Given the description of an element on the screen output the (x, y) to click on. 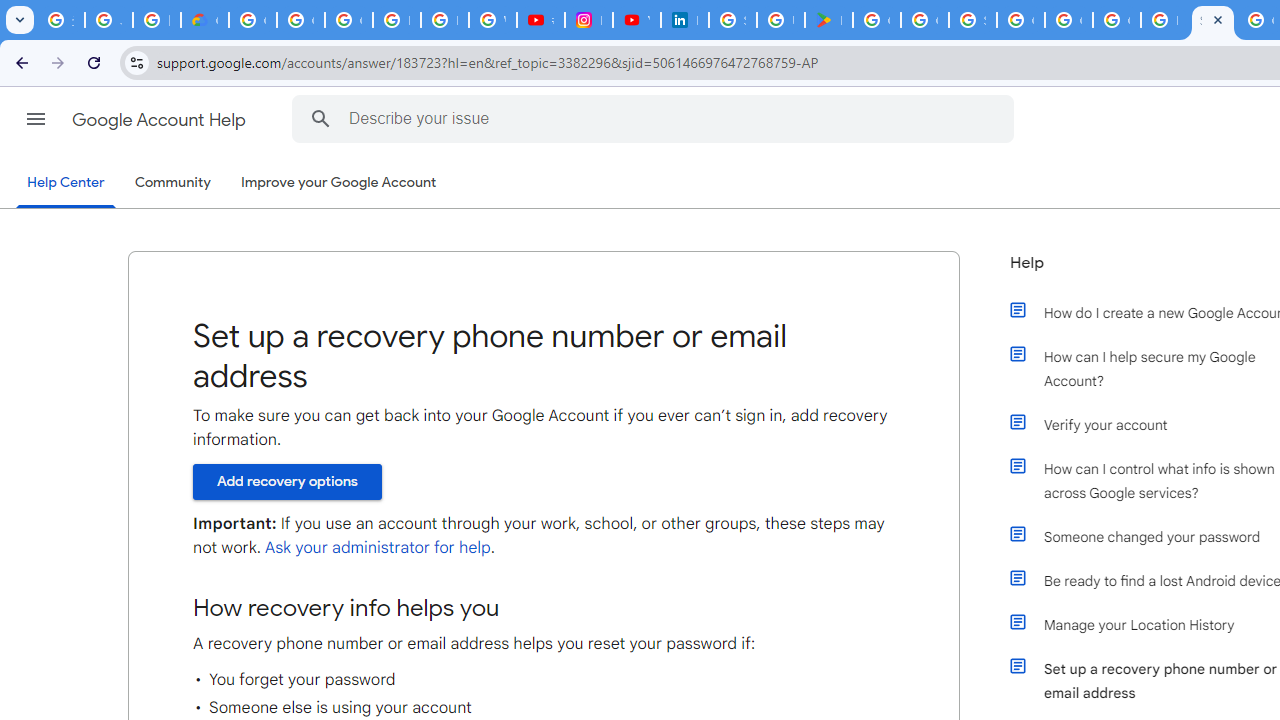
#nbabasketballhighlights - YouTube (540, 20)
YouTube Culture & Trends - On The Rise: Handcam Videos (636, 20)
Last Shelter: Survival - Apps on Google Play (828, 20)
Improve your Google Account (339, 183)
